Given the description of an element on the screen output the (x, y) to click on. 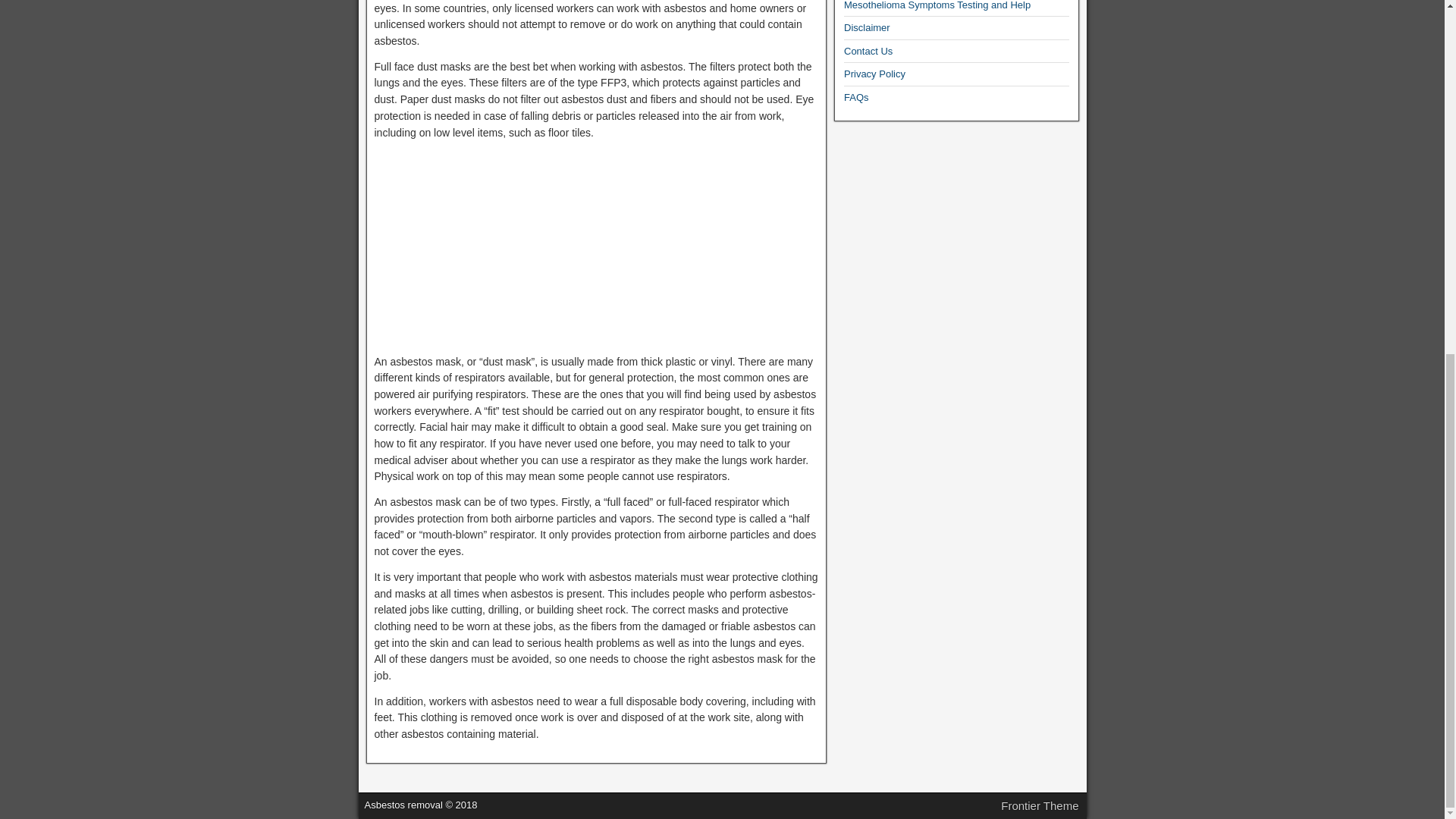
Contact Us (868, 50)
Privacy Policy (874, 73)
Disclaimer (866, 27)
FAQs (856, 97)
Mesothelioma Symptoms Testing and Help (937, 5)
Frontier Theme (1039, 805)
